Given the description of an element on the screen output the (x, y) to click on. 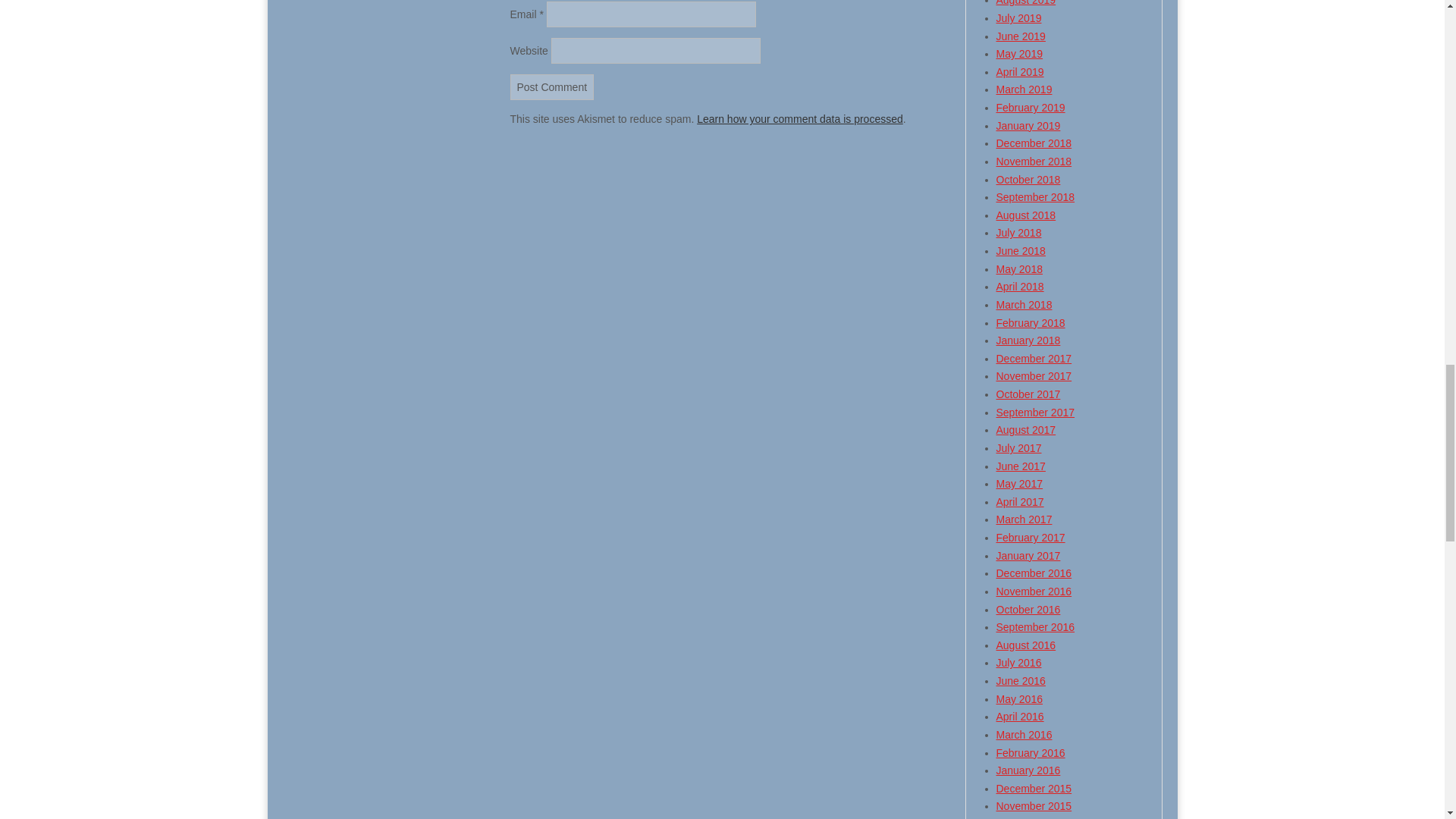
Post Comment (551, 86)
Post Comment (551, 86)
Learn how your comment data is processed (799, 119)
